Given the description of an element on the screen output the (x, y) to click on. 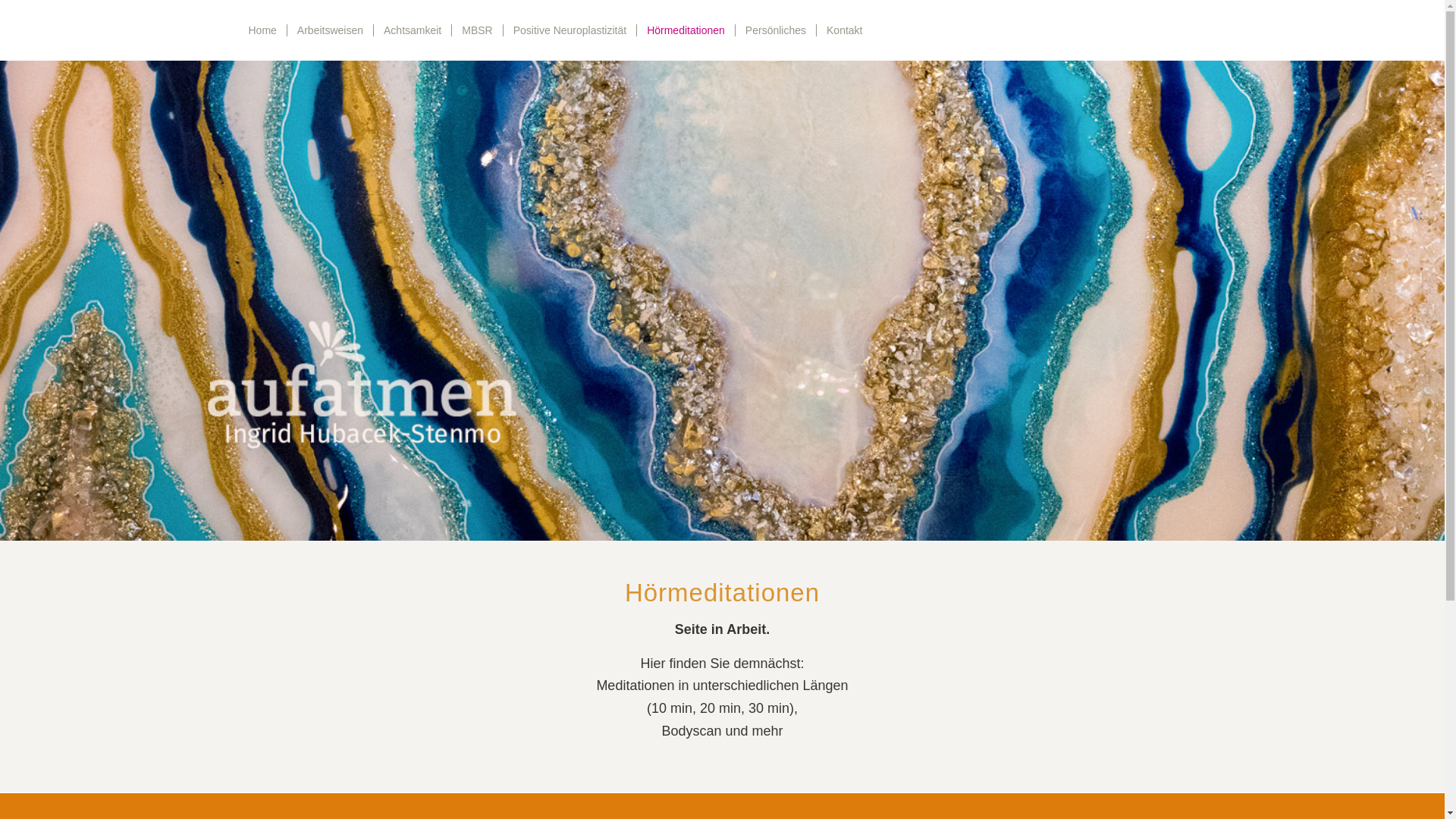
hoermeditationen Element type: hover (722, 299)
Achtsamkeit Element type: text (412, 30)
Arbeitsweisen Element type: text (329, 30)
Kontakt Element type: text (843, 30)
MBSR Element type: text (476, 30)
Home Element type: text (261, 30)
Bildschirmfoto 2020-12-08 um 14.44.08 Element type: hover (1170, 25)
